Given the description of an element on the screen output the (x, y) to click on. 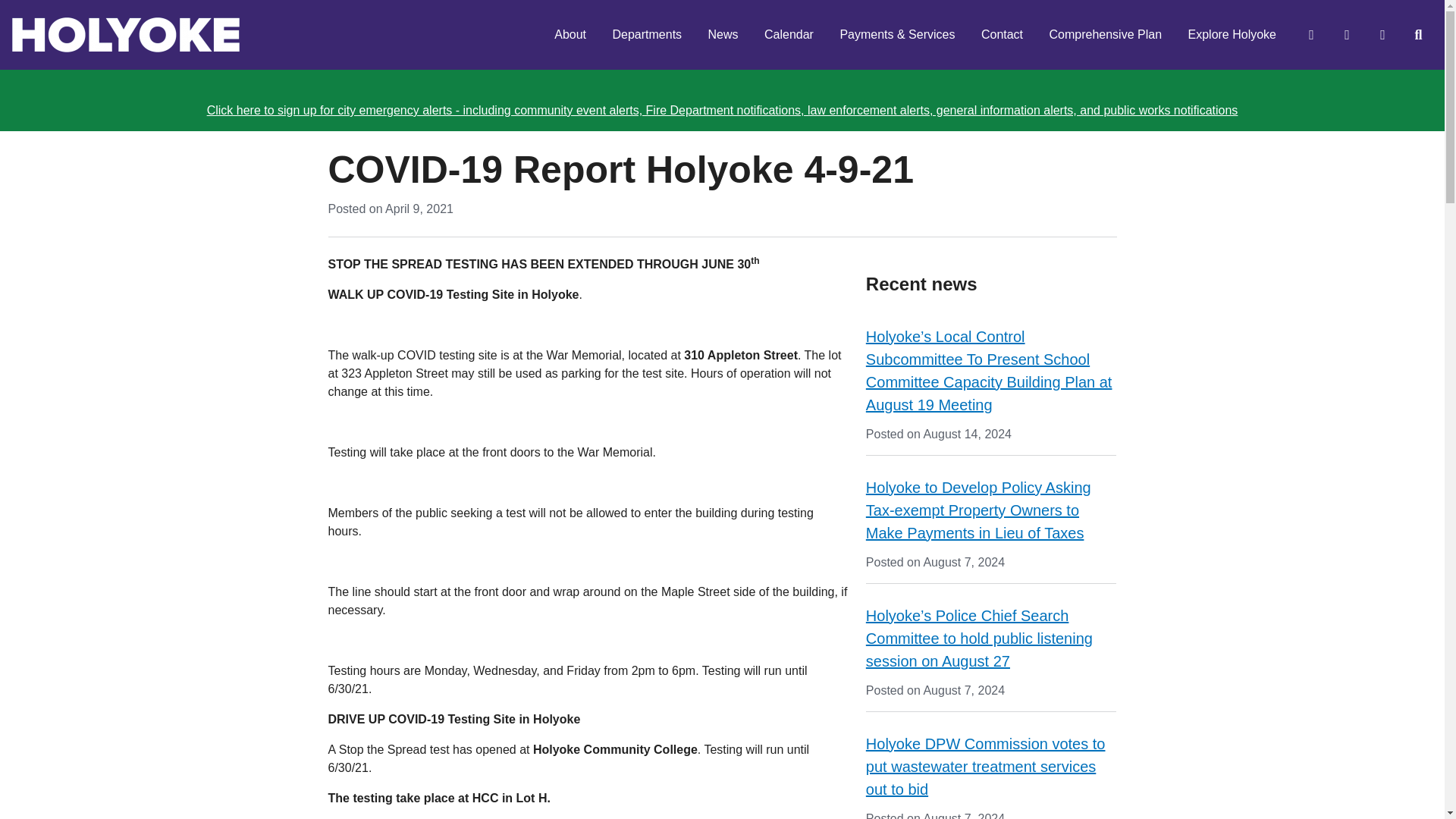
Departments (646, 34)
Answers (1309, 35)
Comprehensive Plan (1105, 34)
Answers (1309, 35)
About (569, 34)
Payments (1345, 35)
Translate (1381, 35)
Search (1417, 35)
Contact (1001, 34)
Home (125, 34)
